Given the description of an element on the screen output the (x, y) to click on. 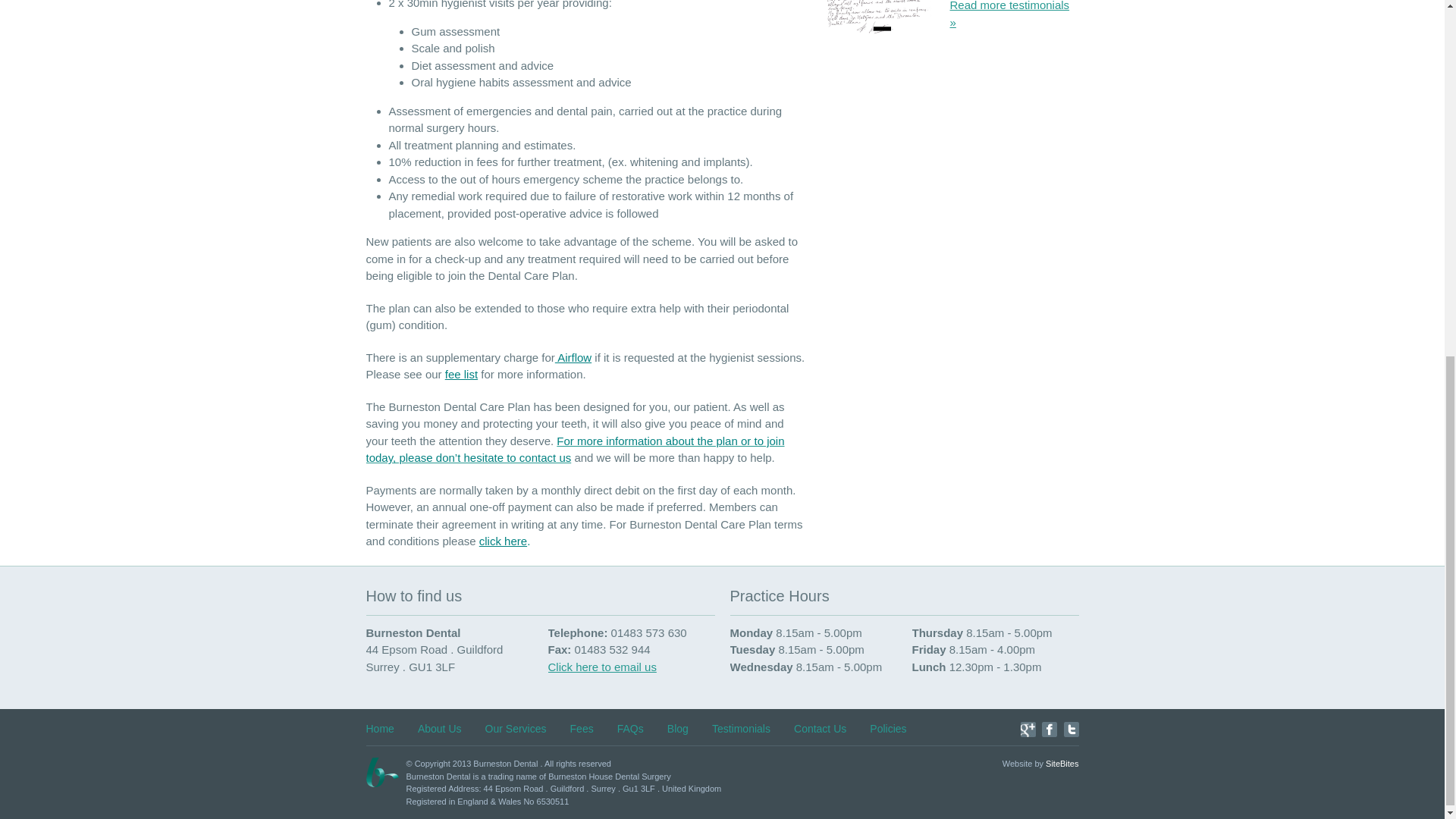
fee list (461, 373)
Airflow (572, 357)
Fees (582, 728)
Testimonials (1010, 14)
FAQs (630, 728)
Blog (677, 728)
click here (503, 540)
Contact Us (574, 449)
Click here to email us (601, 666)
About Us (439, 728)
Our Services (515, 728)
Home (379, 728)
